Given the description of an element on the screen output the (x, y) to click on. 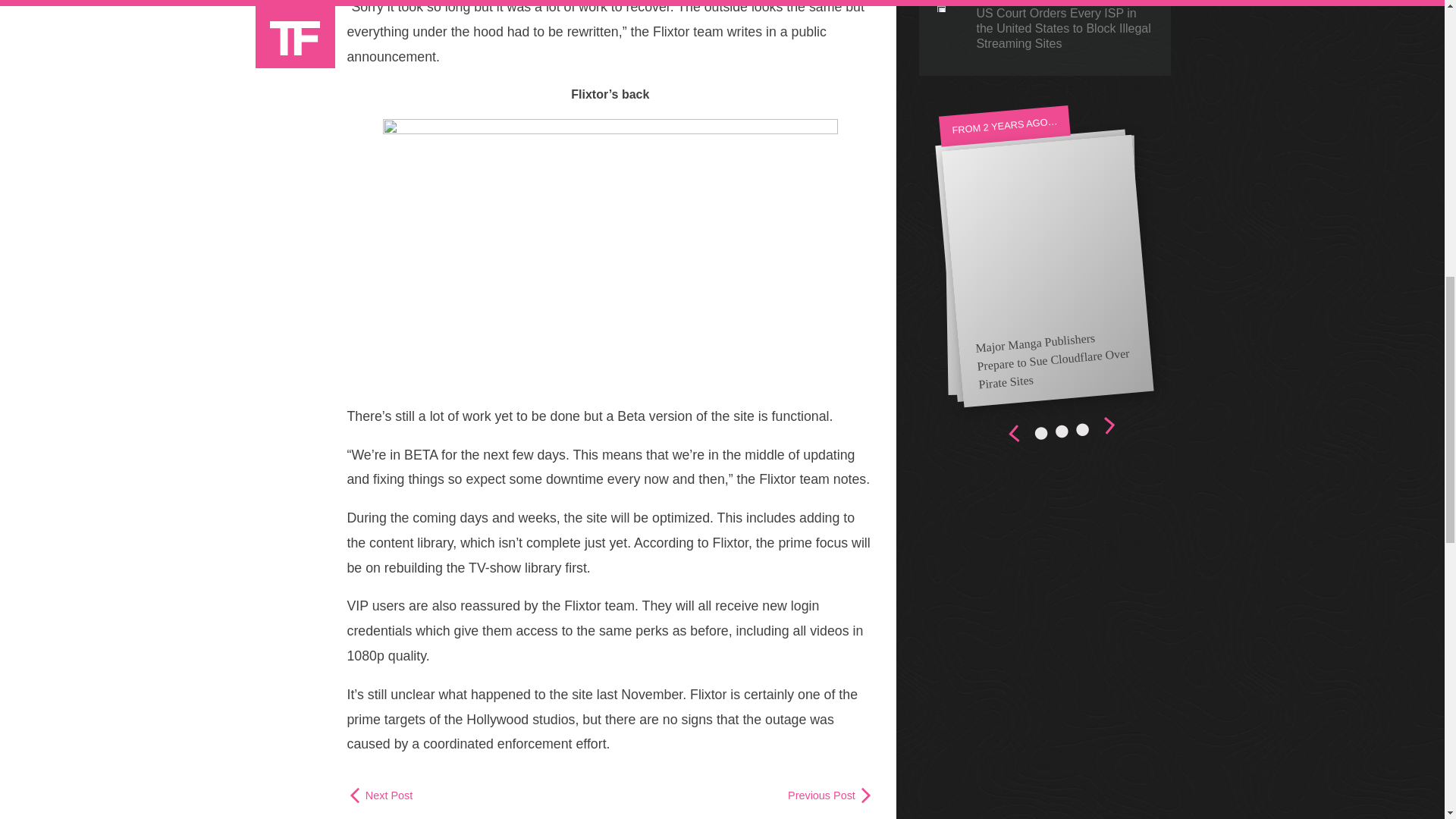
Previous Post (830, 795)
Next Post (380, 795)
